Given the description of an element on the screen output the (x, y) to click on. 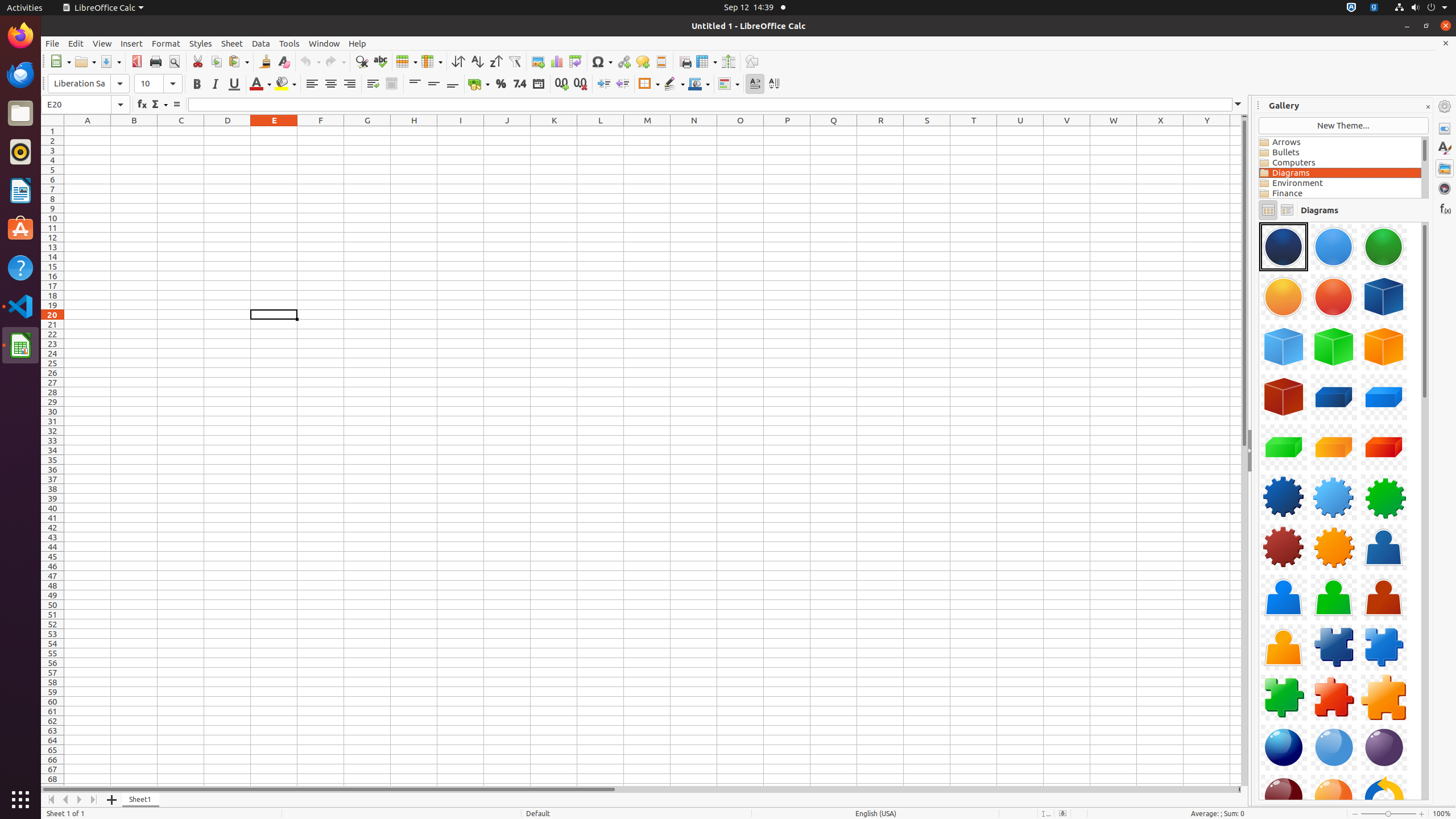
Comment Element type: push-button (642, 61)
Move To End Element type: push-button (94, 799)
Decrease Element type: push-button (622, 83)
O1 Element type: table-cell (740, 130)
Component-Gear03-Green Element type: list-item (1383, 496)
